Given the description of an element on the screen output the (x, y) to click on. 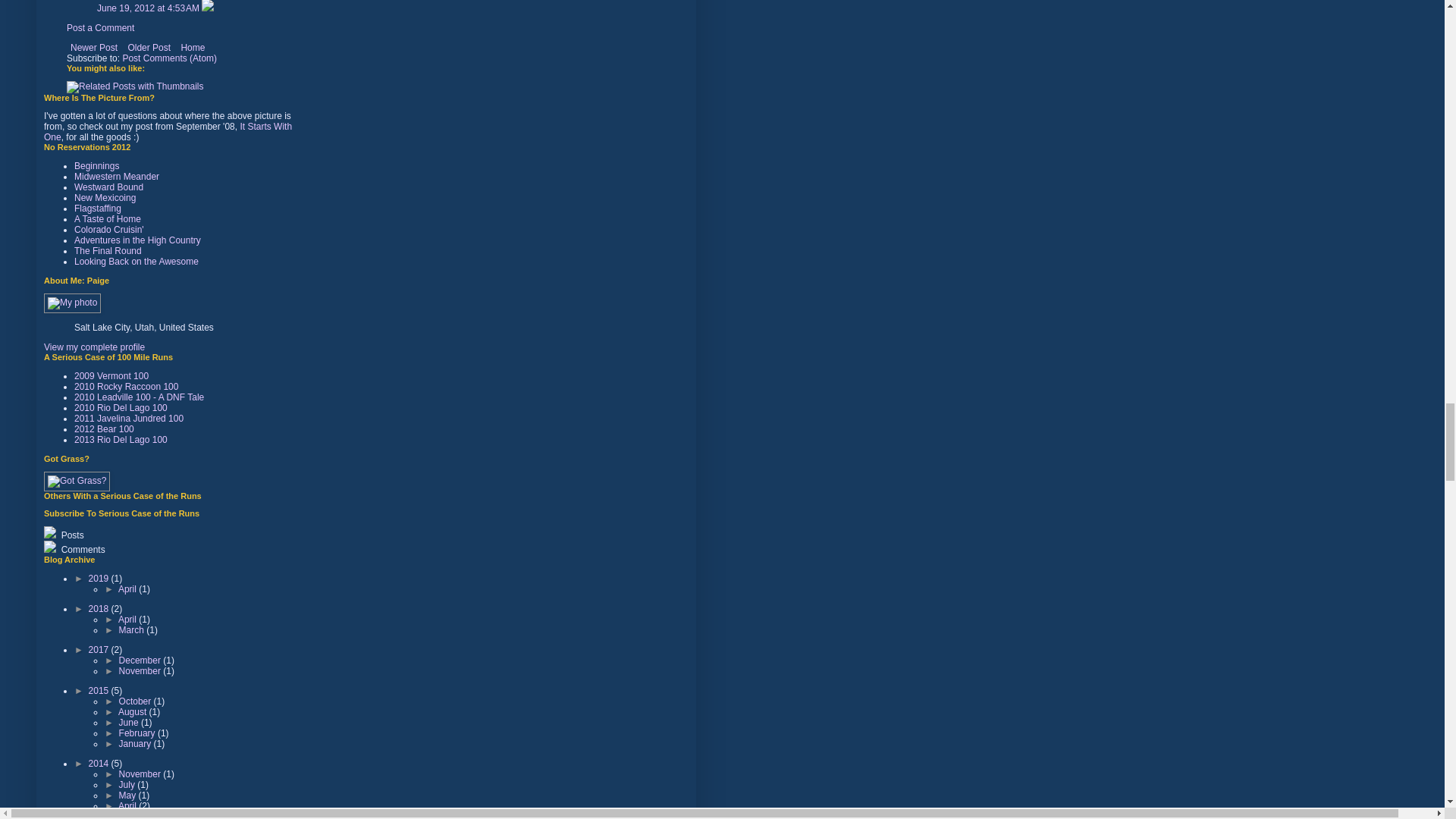
Older Post (148, 47)
Delete Comment (208, 8)
comment permalink (149, 8)
Post a Comment (99, 27)
Newer Post (93, 47)
